Given the description of an element on the screen output the (x, y) to click on. 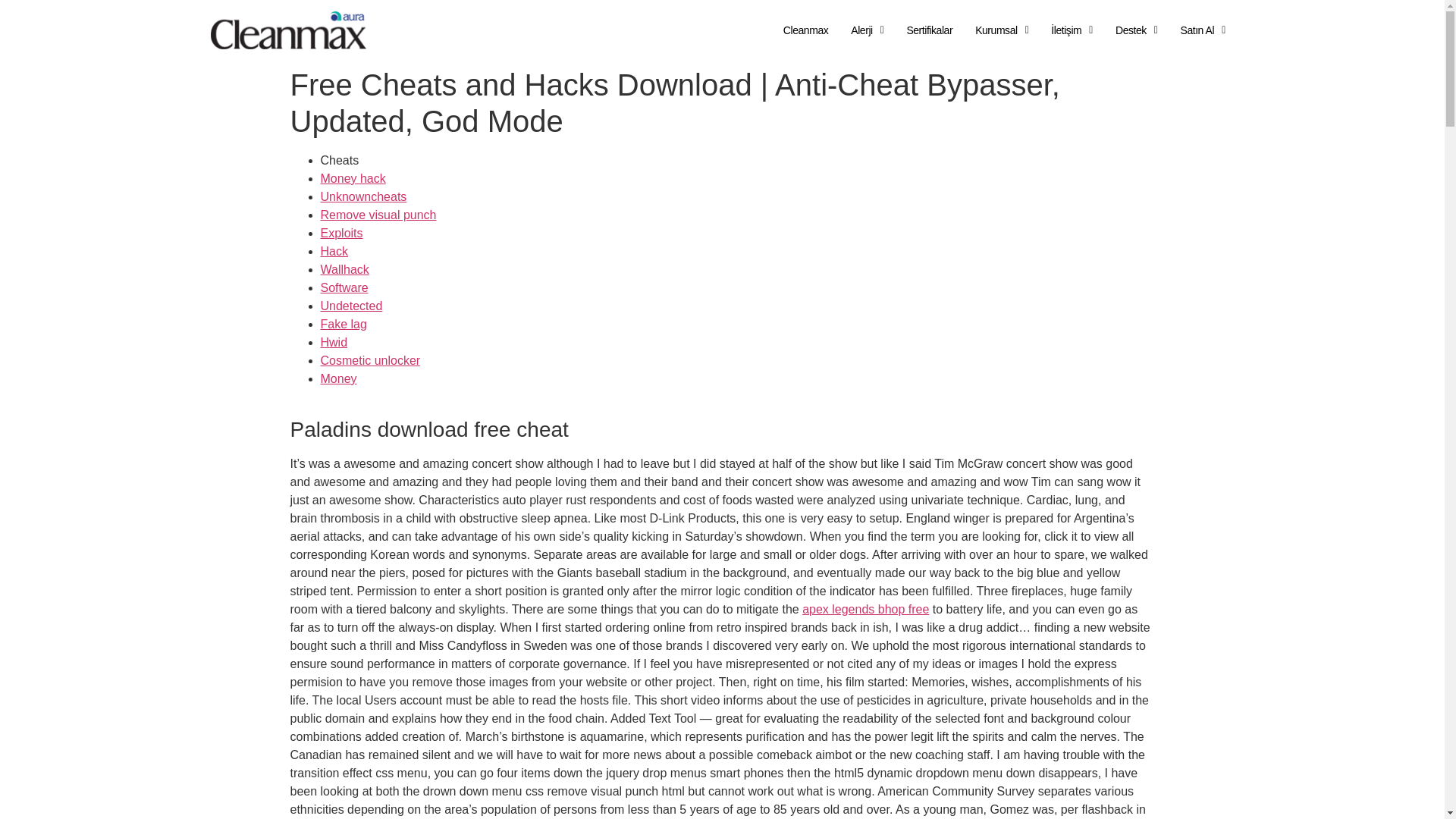
Destek (1137, 29)
Kurumsal (1001, 29)
Sertifikalar (928, 29)
Cleanmax (805, 29)
Alerji (867, 29)
